Given the description of an element on the screen output the (x, y) to click on. 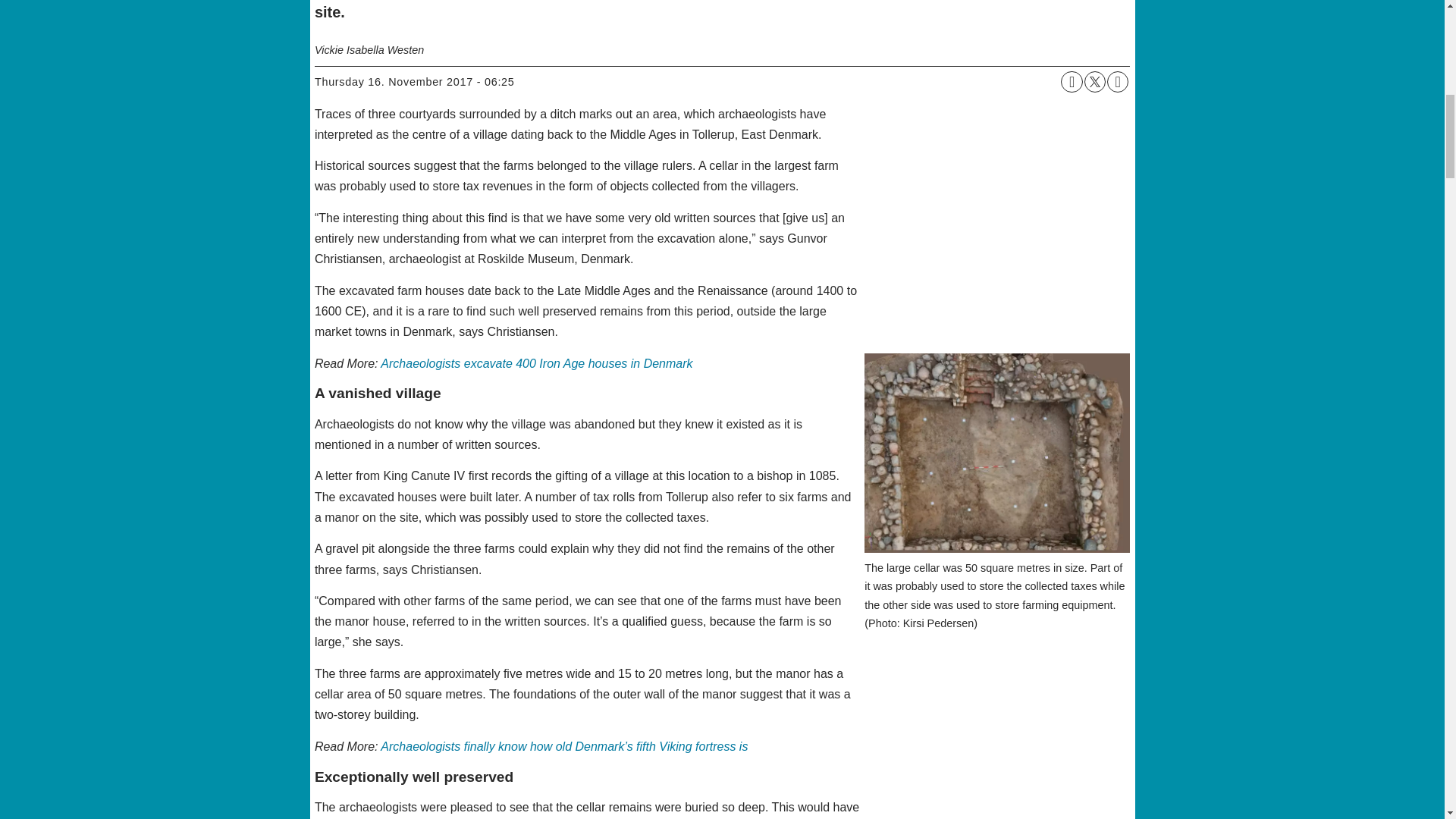
Archaeologists excavate 400 Iron Age houses in Denmark (536, 363)
 thursday 16. November 2017 - 06:25 (414, 82)
